Given the description of an element on the screen output the (x, y) to click on. 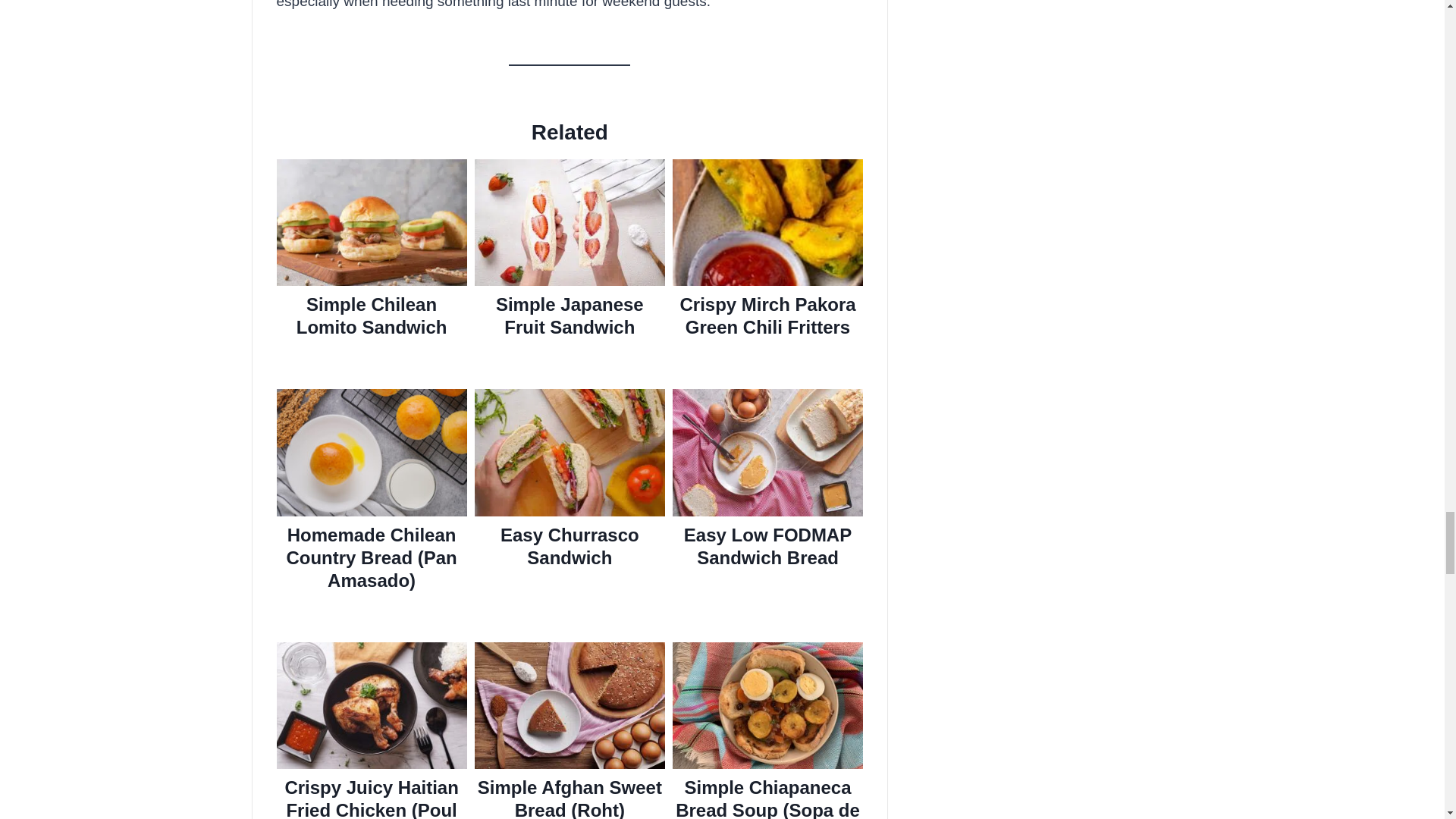
Simple Chilean Lomito Sandwich (370, 316)
Simple Japanese Fruit Sandwich (569, 316)
